Given the description of an element on the screen output the (x, y) to click on. 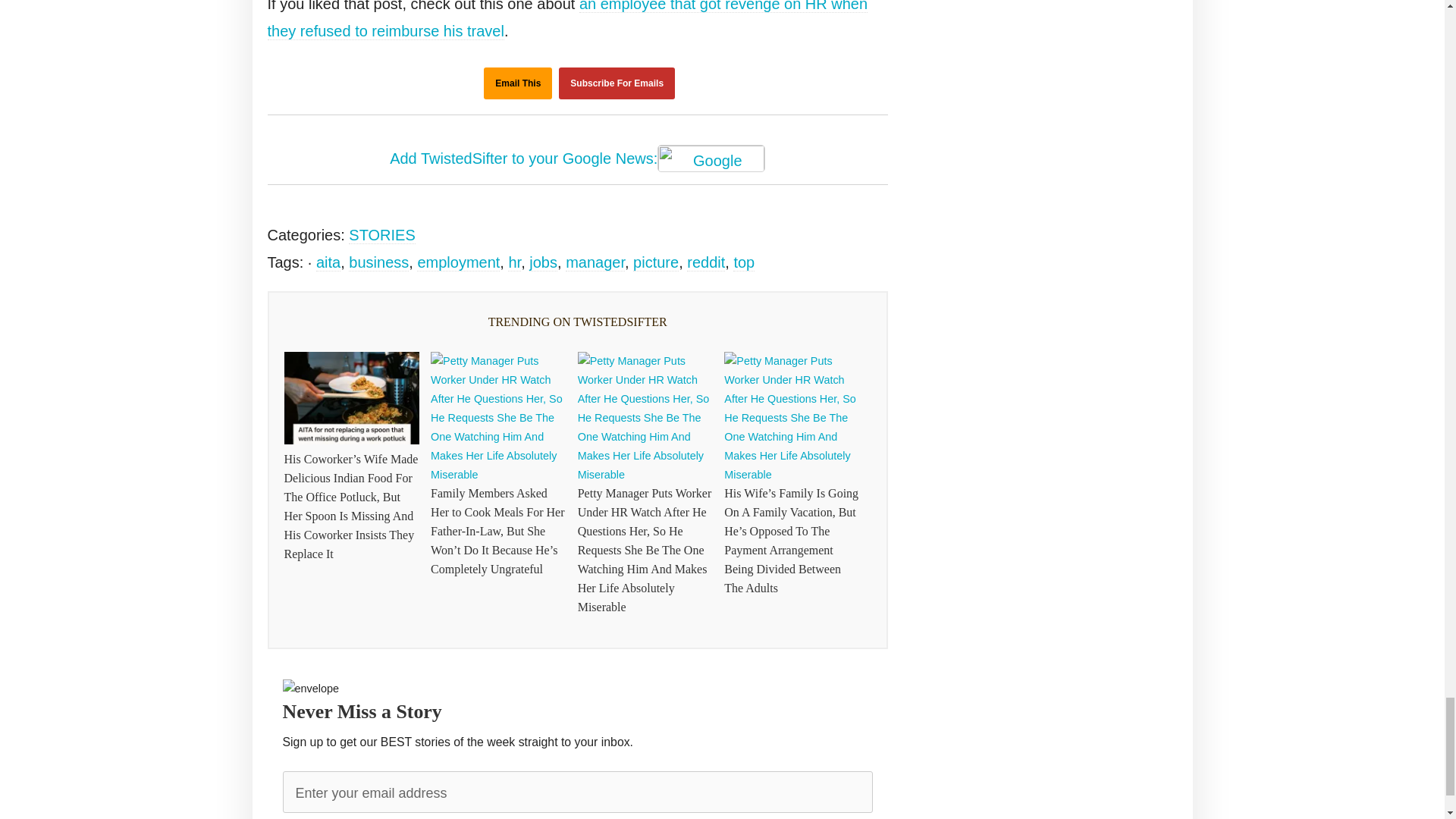
Google News (711, 157)
Subscribe For Emails (617, 83)
Add TwistedSifter to your Google News: (577, 159)
business (379, 262)
STORIES (381, 235)
hr (514, 262)
aita (327, 262)
employment (457, 262)
Email This (517, 83)
